Given the description of an element on the screen output the (x, y) to click on. 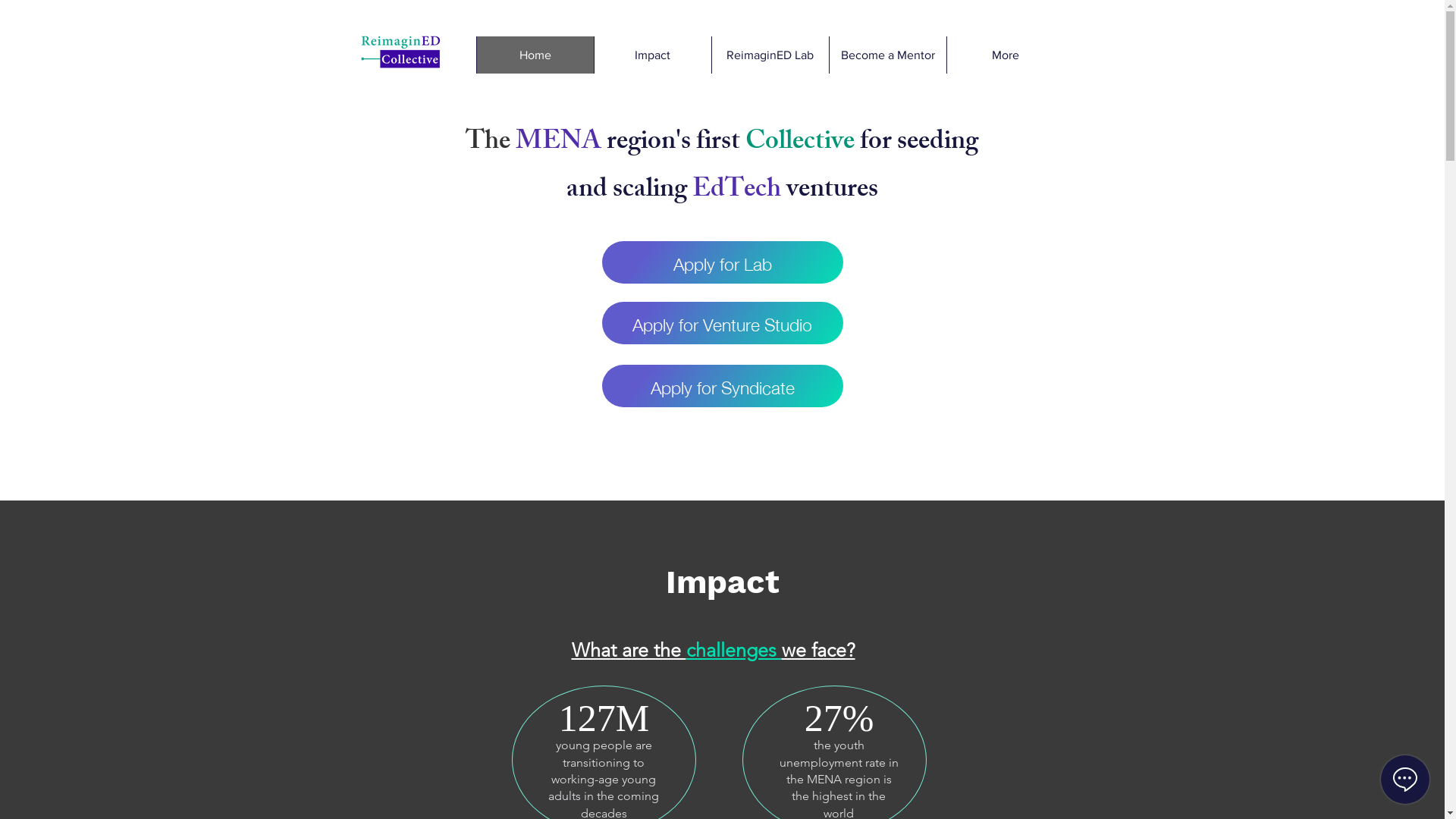
Home Element type: text (534, 54)
Become a Mentor Element type: text (886, 54)
Apply for Venture Studio Element type: text (722, 322)
Impact Element type: text (651, 54)
ReimaginED Lab Element type: text (769, 54)
Apply for Syndicate Element type: text (722, 385)
Apply for Lab Element type: text (722, 262)
